Given the description of an element on the screen output the (x, y) to click on. 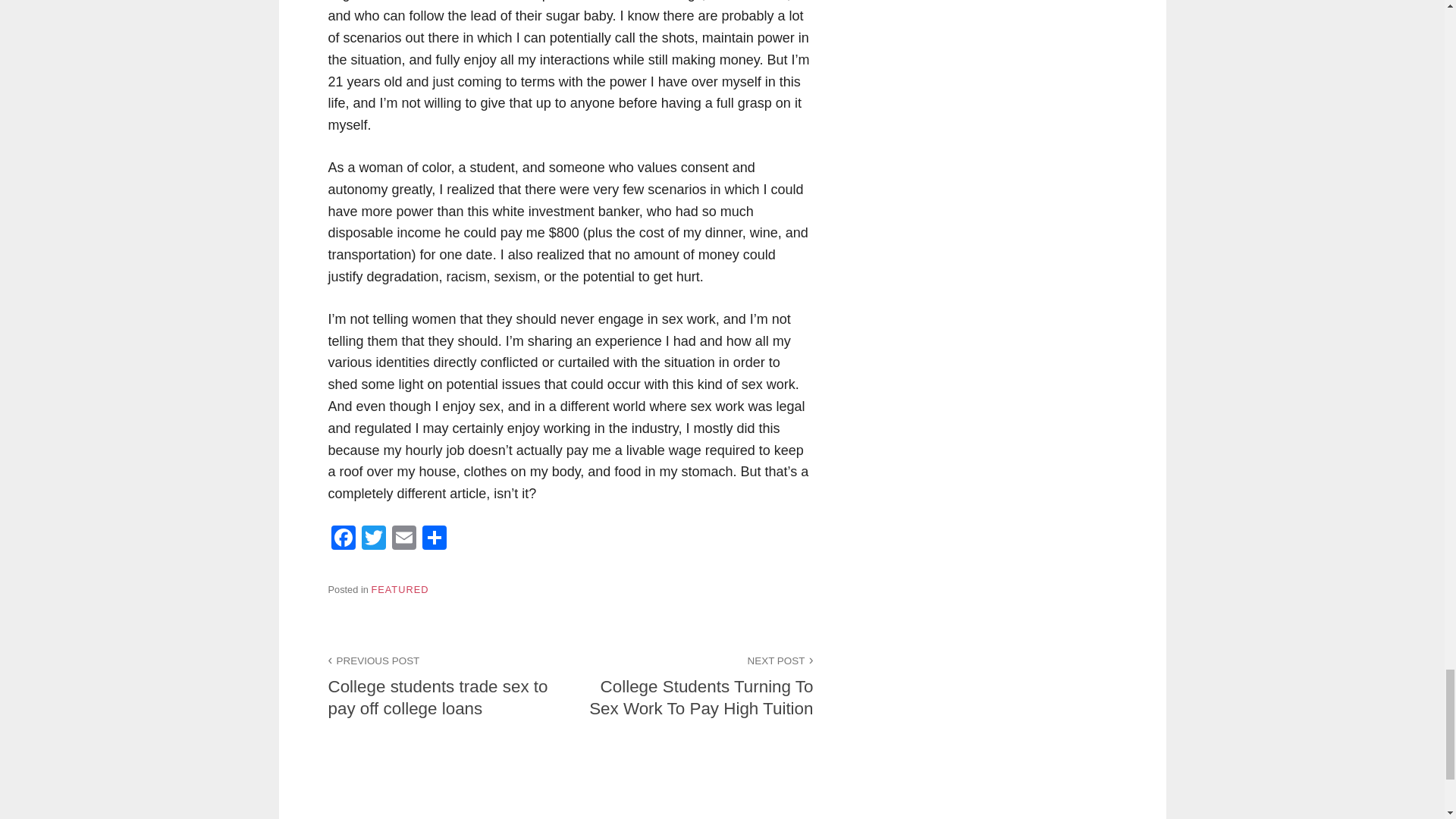
Share (433, 539)
Email (403, 539)
Facebook (342, 539)
Twitter (373, 539)
Email (403, 539)
Twitter (373, 539)
Facebook (342, 539)
FEATURED (399, 589)
